Given the description of an element on the screen output the (x, y) to click on. 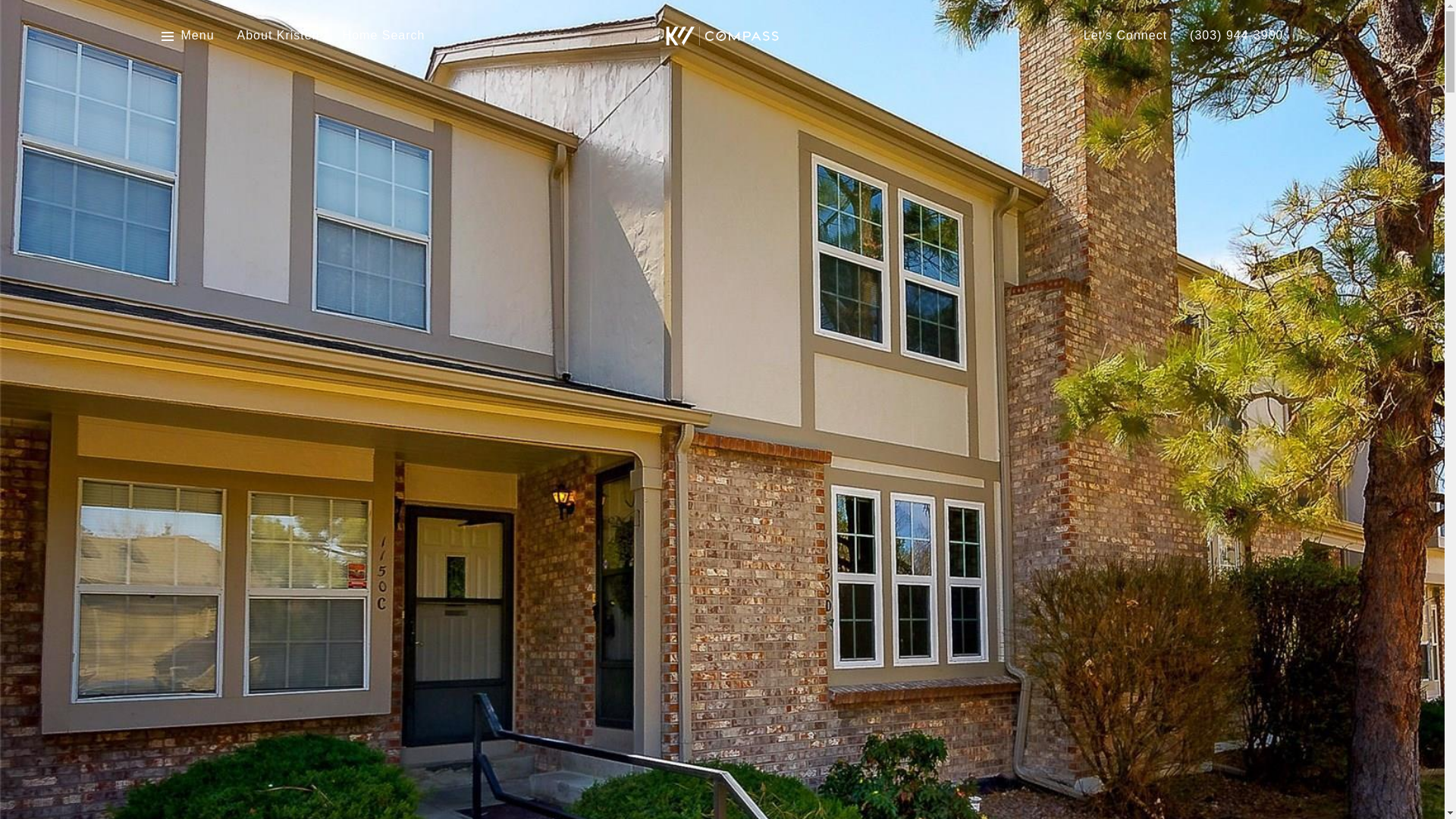
Menu (197, 35)
Home Search (383, 35)
Menu (187, 35)
About Kristen (278, 35)
Let'S Connect (1125, 35)
